Given the description of an element on the screen output the (x, y) to click on. 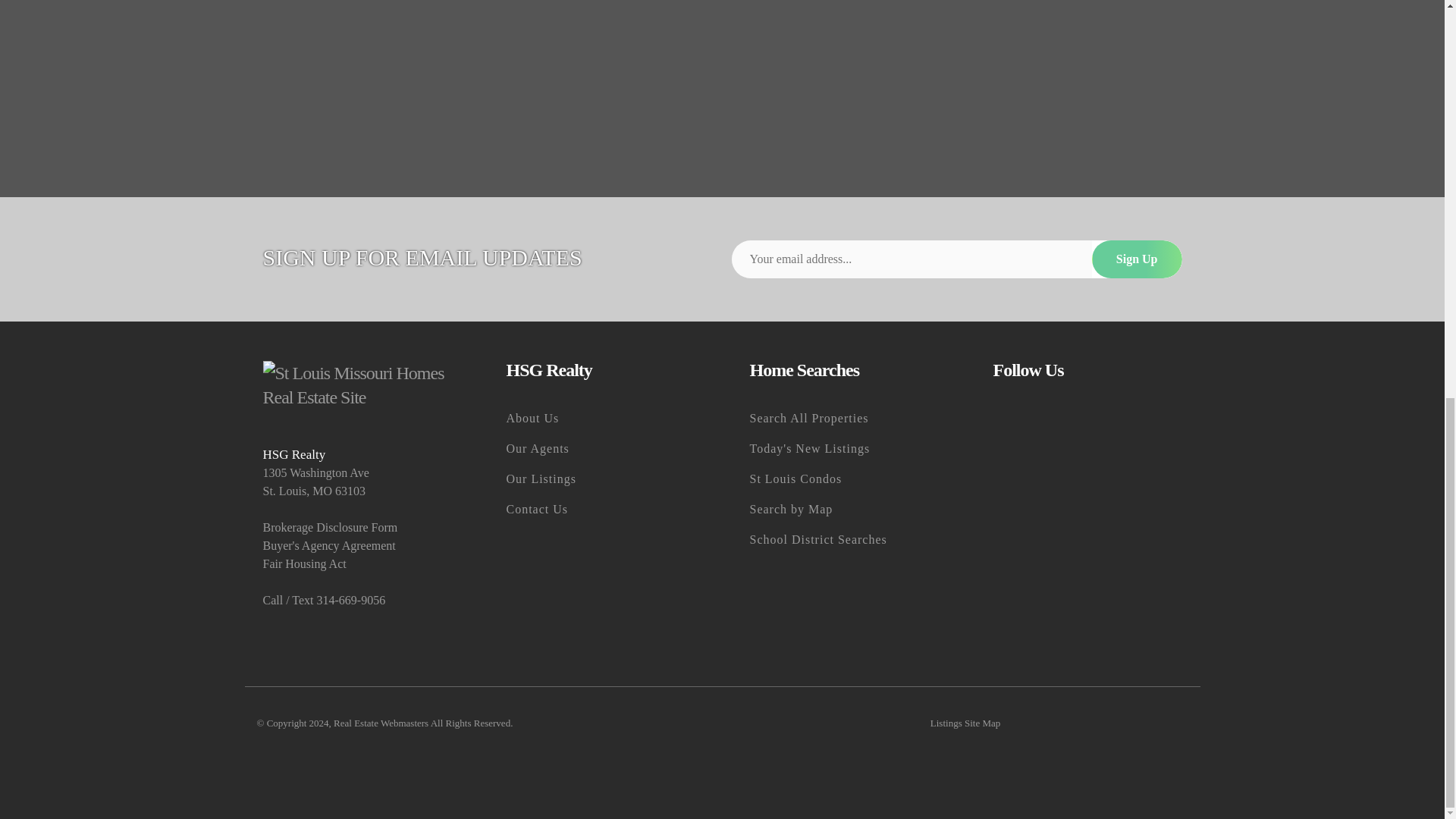
Buyer's Agency Agreement (356, 546)
About Us (600, 418)
Brokerage Disclosure Form (356, 527)
Fair Housing Act (356, 564)
Our Listings (600, 479)
Our Agents (600, 449)
Sign Up (1137, 259)
St Louis Missouri Homes Real Estate Site (356, 385)
